Given the description of an element on the screen output the (x, y) to click on. 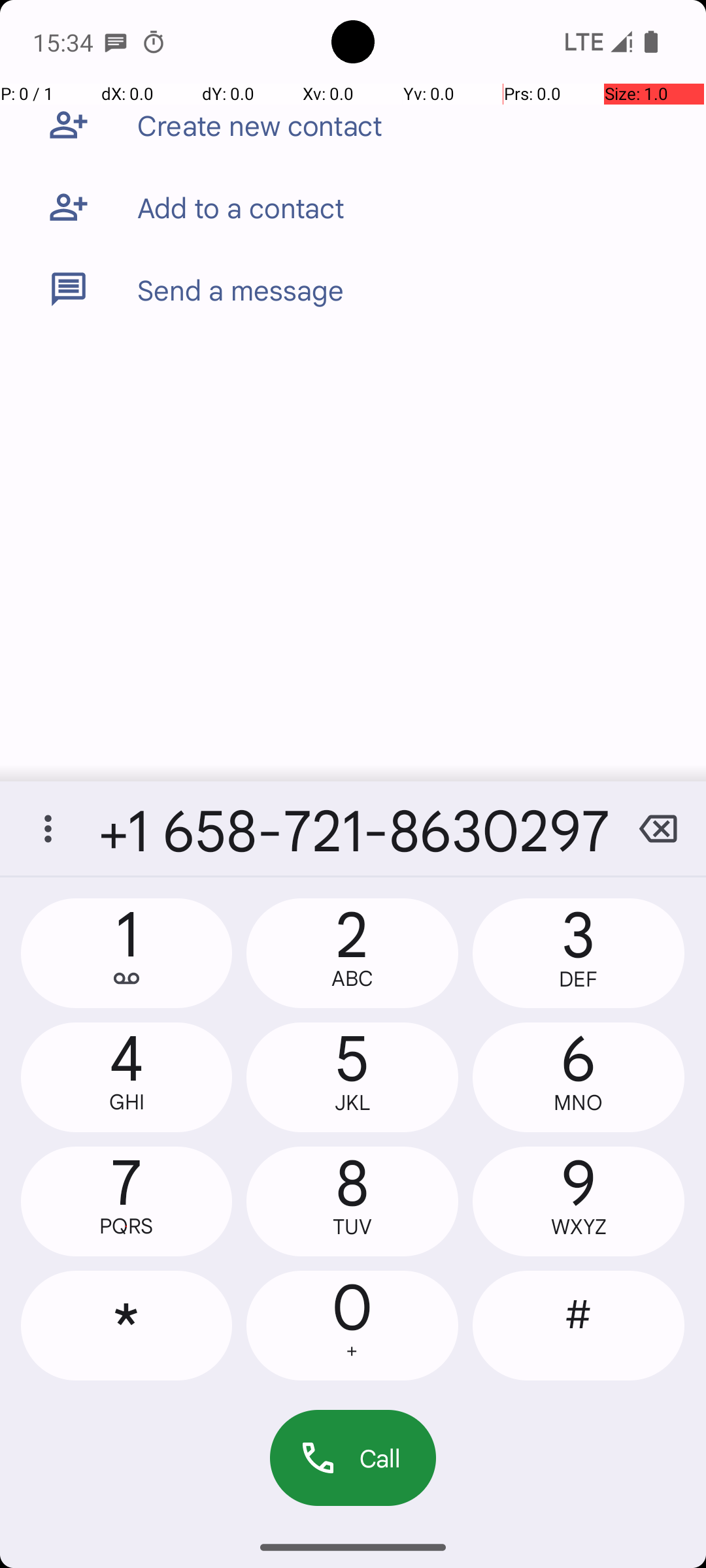
+1 658-721-8630297 Element type: android.widget.EditText (352, 828)
